Given the description of an element on the screen output the (x, y) to click on. 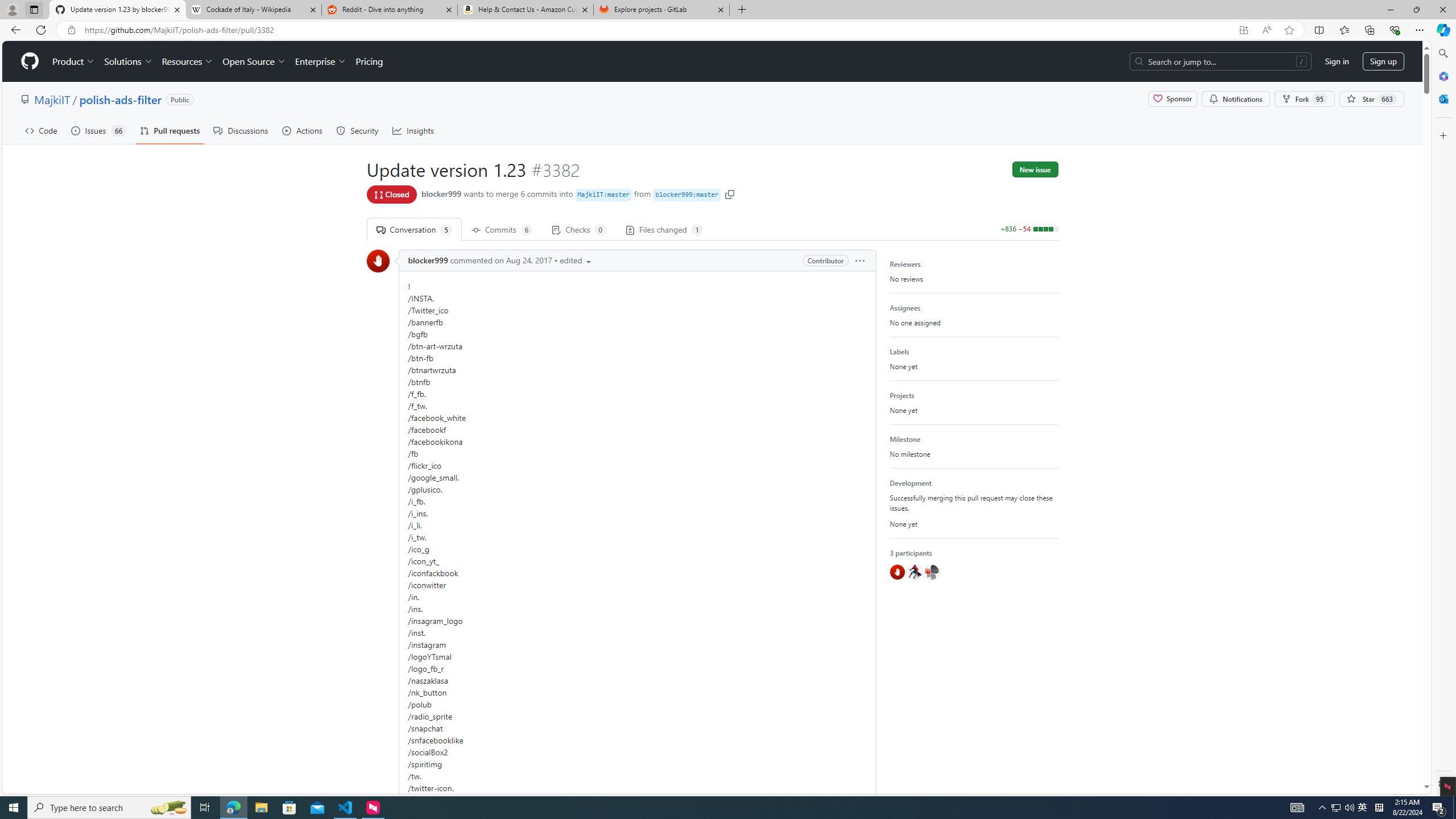
@MajkiIT (931, 572)
Product (74, 60)
Actions (302, 130)
Code (41, 130)
Pull requests (170, 130)
Security (357, 130)
Enterprise (319, 60)
on Aug 24, 2017 (522, 260)
Open Source (254, 60)
Pull requests (170, 130)
MajkiIT (51, 99)
